Given the description of an element on the screen output the (x, y) to click on. 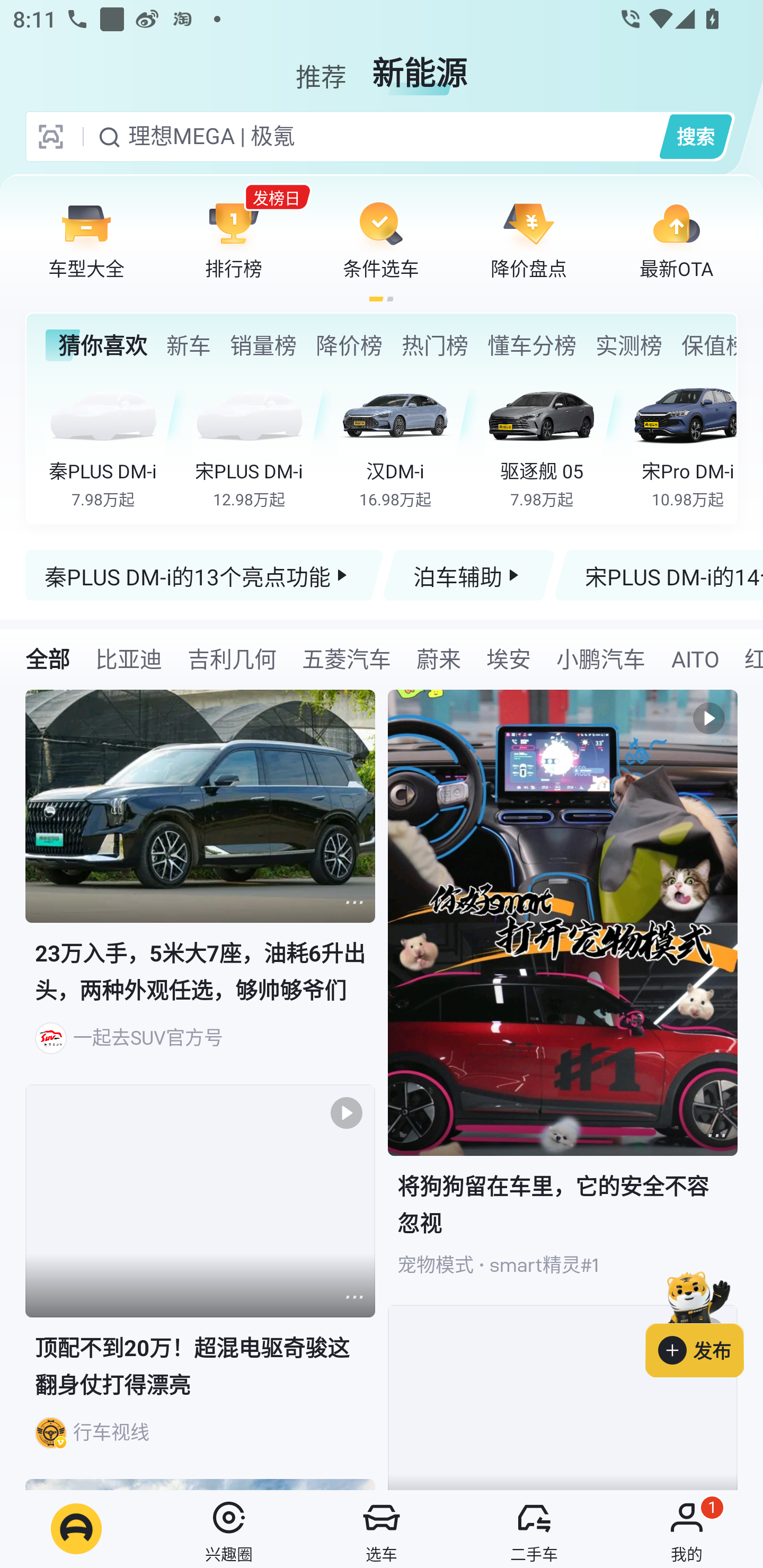
推荐 (321, 65)
新能源 (419, 65)
搜索 (695, 136)
车型大全 (86, 238)
发榜日 排行榜 (233, 238)
条件选车 (380, 238)
降价盘点 (528, 238)
最新OTA (676, 238)
猜你喜欢 (96, 344)
新车 (188, 344)
销量榜 (262, 344)
降价榜 (348, 344)
热门榜 (434, 344)
懂车分榜 (531, 344)
实测榜 (628, 344)
保值榜 (708, 344)
秦PLUS DM-i 7.98万起 (115, 442)
宋PLUS DM-i 12.98万起 (261, 442)
汉DM-i 16.98万起 (407, 442)
驱逐舰 05 7.98万起 (554, 442)
宋Pro DM-i 10.98万起 (683, 442)
秦PLUS DM-i的13个亮点功能 (204, 575)
泊车辅助 (468, 575)
宋PLUS DM-i的14个亮点功能 (658, 575)
全部 (47, 658)
比亚迪 (128, 658)
吉利几何 (231, 658)
五菱汽车 (346, 658)
蔚来 (438, 658)
埃安 (508, 658)
小鹏汽车 (600, 658)
AITO (694, 658)
 23万入手，5米大7座，油耗6升出头，两种外观任选，够帅够爷们 一起去SUV官方号 (200, 887)
  将狗狗留在车里，它的安全不容忽视 宠物模式 smart精灵#1 (562, 996)
 (354, 902)
  顶配不到20万！超混电驱奇骏这翻身仗打得漂亮 行车视线 (200, 1281)
 (716, 1135)
smart精灵#1 (543, 1265)
发布 (704, 1320)
 (354, 1296)
 兴趣圈 (228, 1528)
 选车 (381, 1528)
 二手车 (533, 1528)
 我的 (686, 1528)
